Given the description of an element on the screen output the (x, y) to click on. 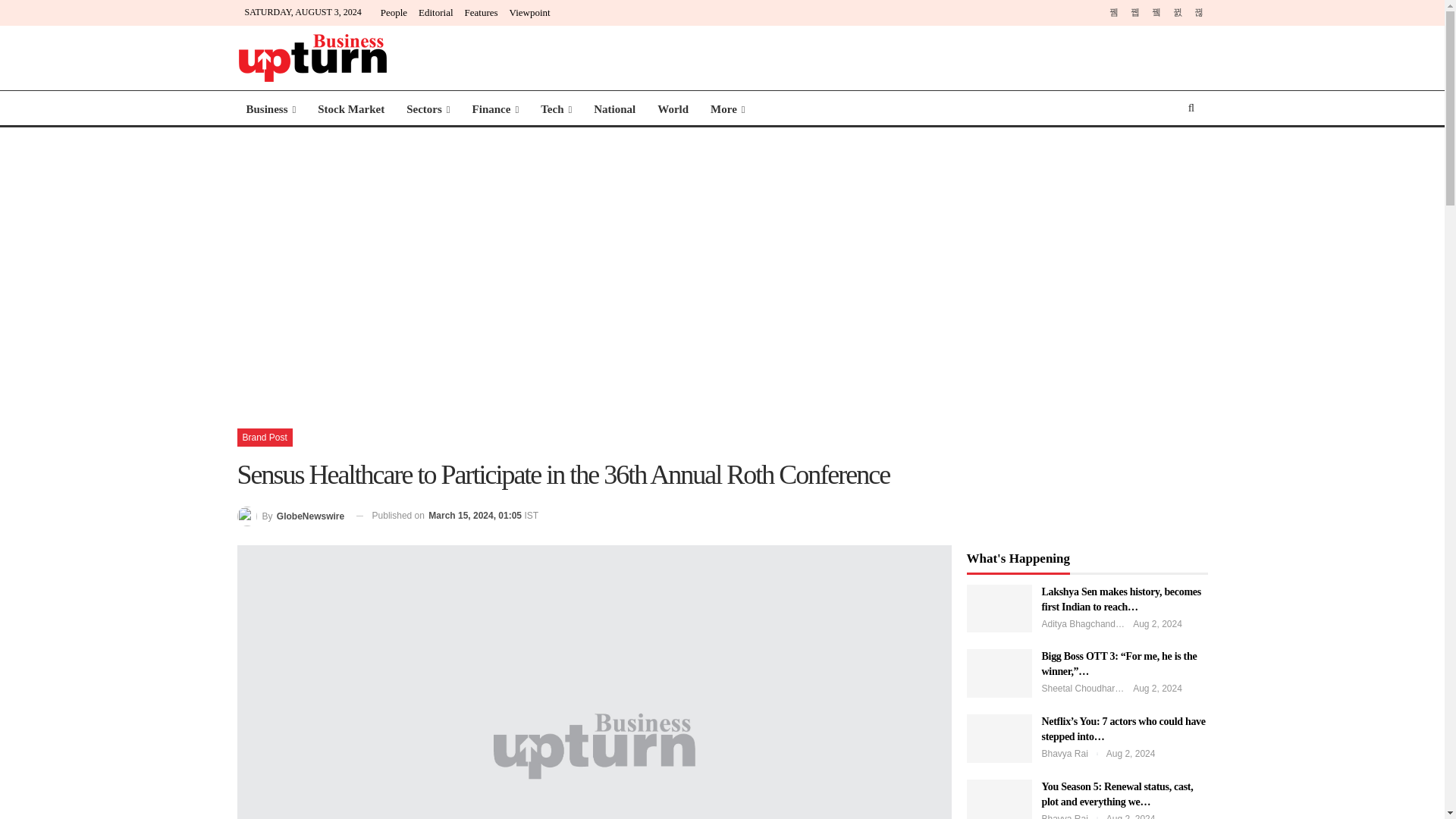
Sectors (427, 108)
Viewpoint (529, 12)
Business (269, 108)
People (393, 12)
Finance (495, 108)
Editorial (435, 12)
Features (480, 12)
Stock Market (350, 108)
Browse Author Articles (289, 516)
